Given the description of an element on the screen output the (x, y) to click on. 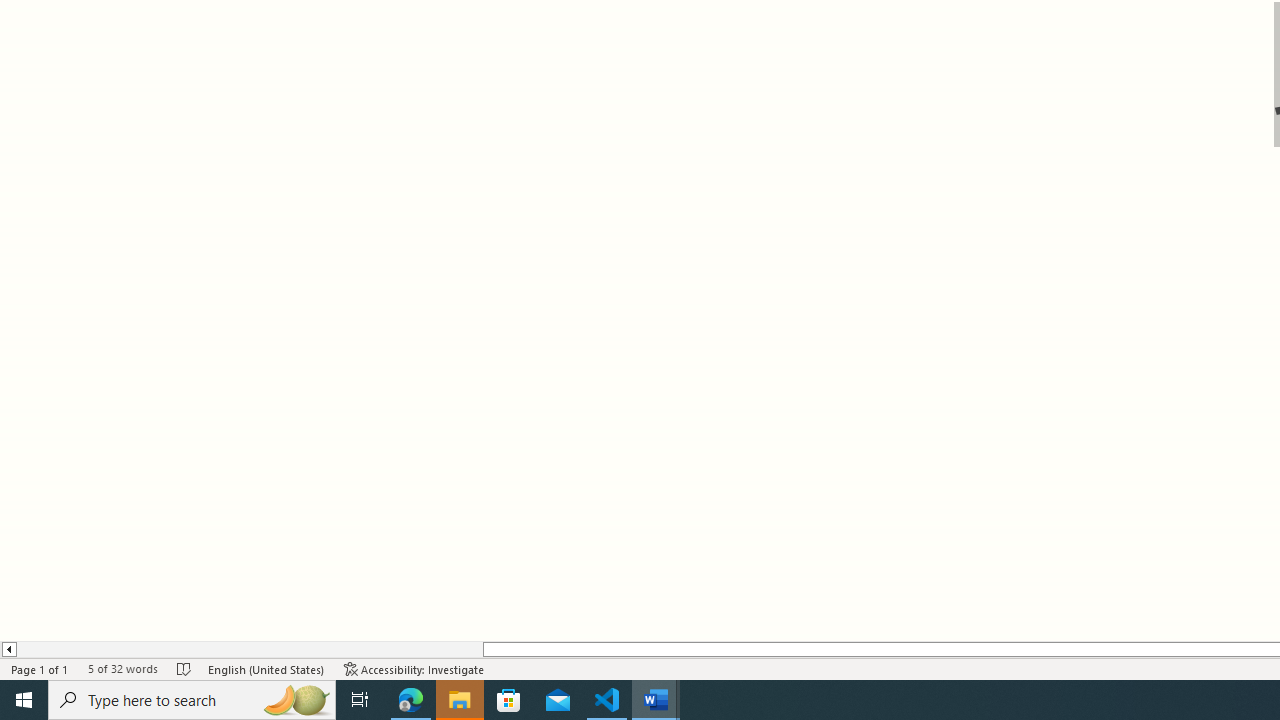
Page Number Page 1 of 1 (39, 668)
Spelling and Grammar Check No Errors (184, 668)
Column left (8, 649)
Page left (249, 649)
Language English (United States) (266, 668)
Word Count 5 of 32 words (122, 668)
Accessibility Checker Accessibility: Investigate (413, 668)
